Given the description of an element on the screen output the (x, y) to click on. 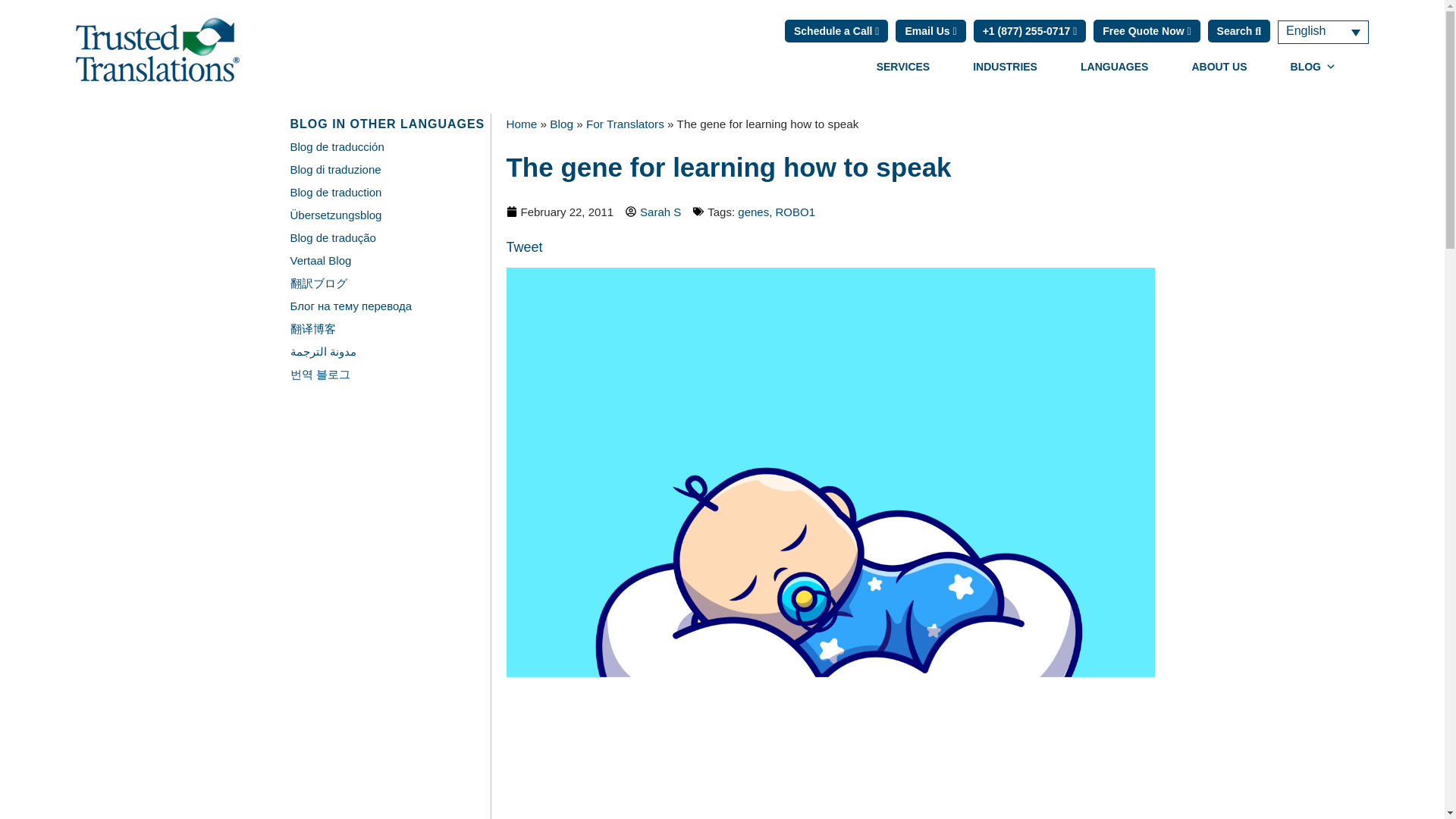
Sarah S (653, 211)
LANGUAGES (1114, 66)
Blog di traduzione (334, 169)
SERVICES (903, 66)
INDUSTRIES (1005, 66)
English (1323, 31)
For Translators (624, 123)
Free Quote Now (1146, 30)
Search (1238, 30)
Blog (561, 123)
